Given the description of an element on the screen output the (x, y) to click on. 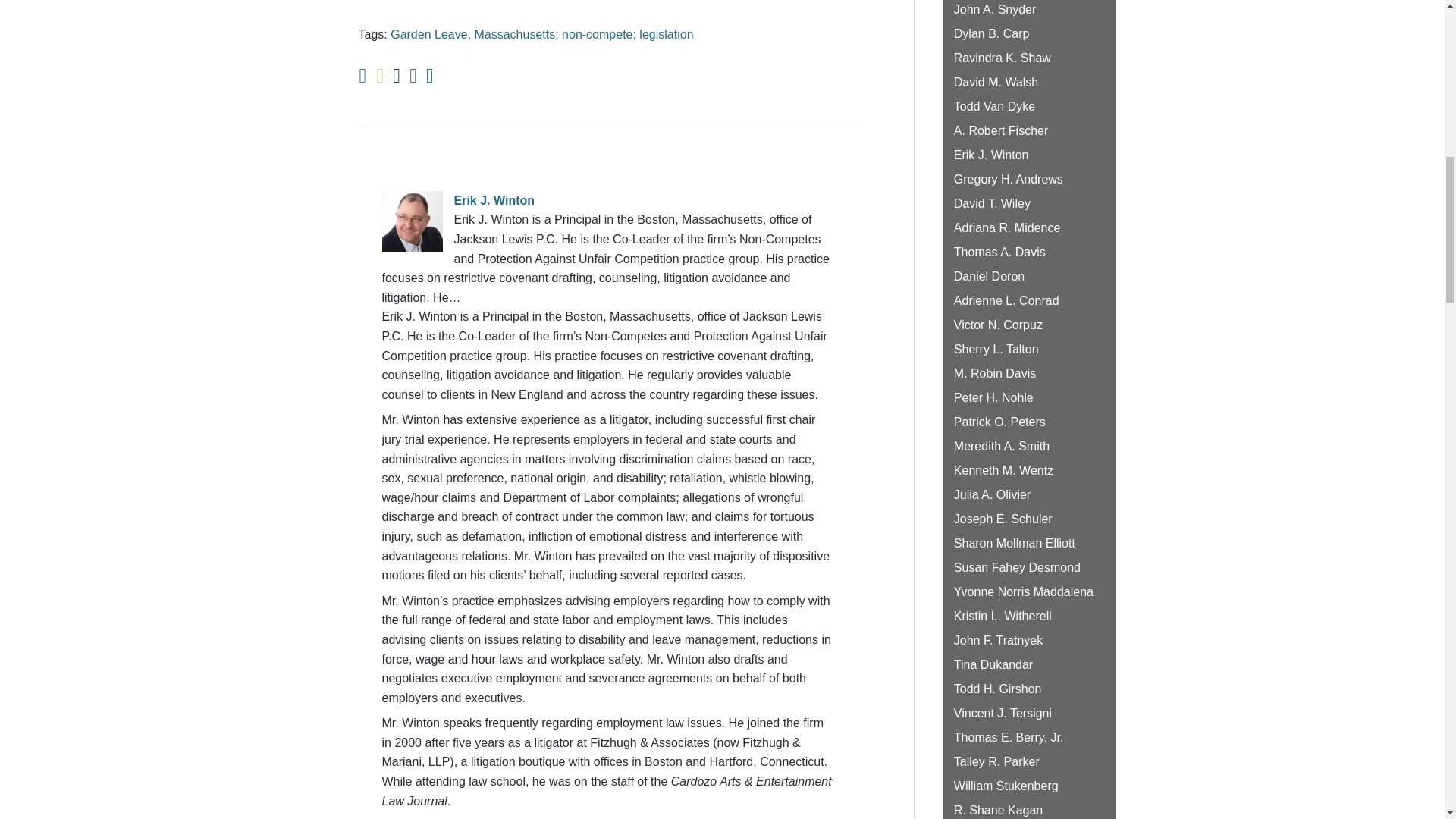
Erik J. Winton (606, 200)
Massachusetts; non-compete; legislation (583, 33)
Garden Leave (428, 33)
